Given the description of an element on the screen output the (x, y) to click on. 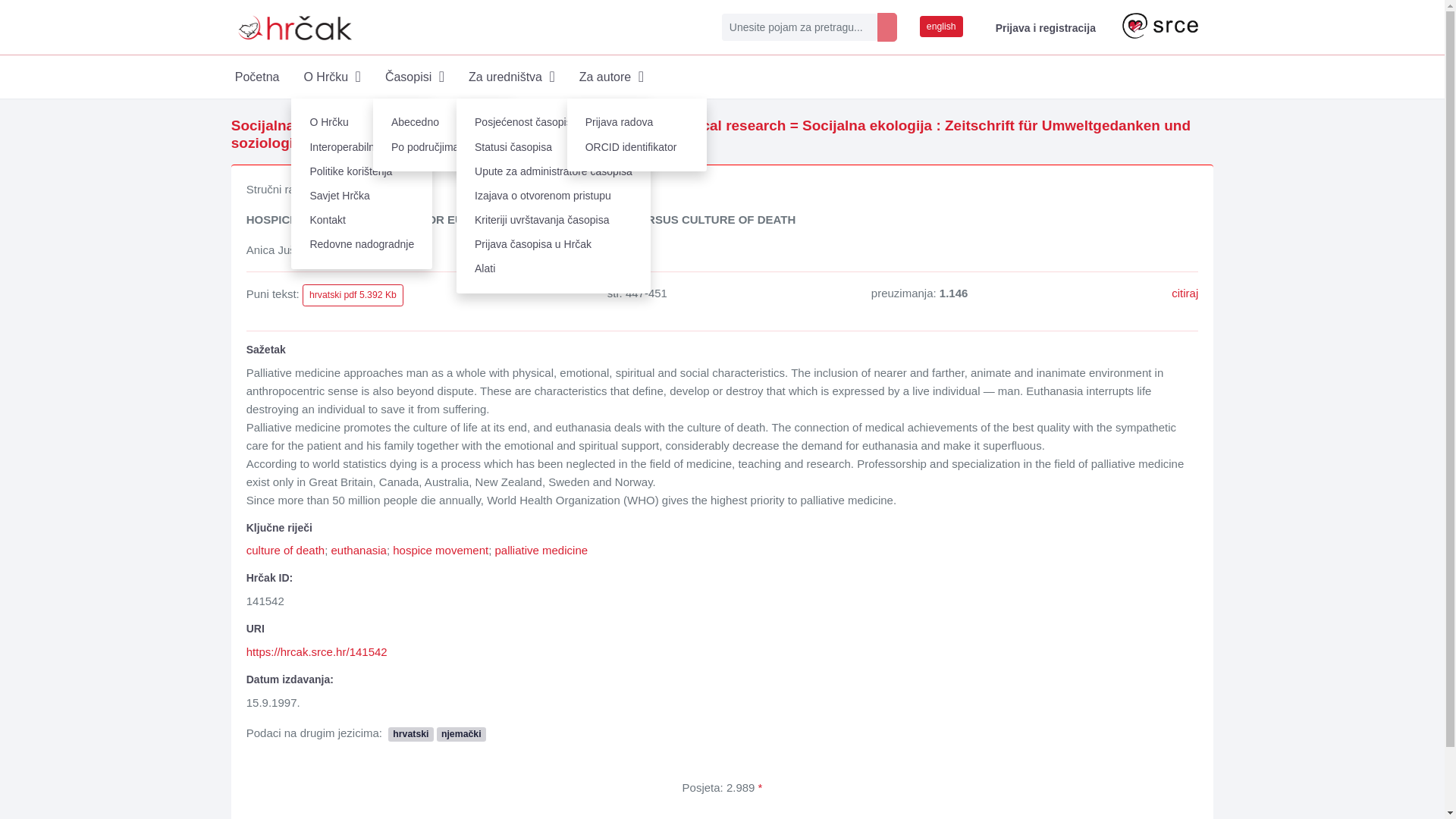
Interoperabilnost (361, 146)
Redovne nadogradnje (361, 244)
Prijava radova (636, 122)
english (941, 25)
Kontakt (361, 220)
ORCID identifikator (636, 146)
palliative medicine (541, 549)
Izajava o otvorenom pristupu (553, 195)
culture of death (285, 549)
submit (886, 27)
hospice movement (440, 549)
citiraj (1185, 292)
Alati (553, 269)
Prijava i registracija (1042, 27)
Vol. 6 No. 4 (450, 142)
